Given the description of an element on the screen output the (x, y) to click on. 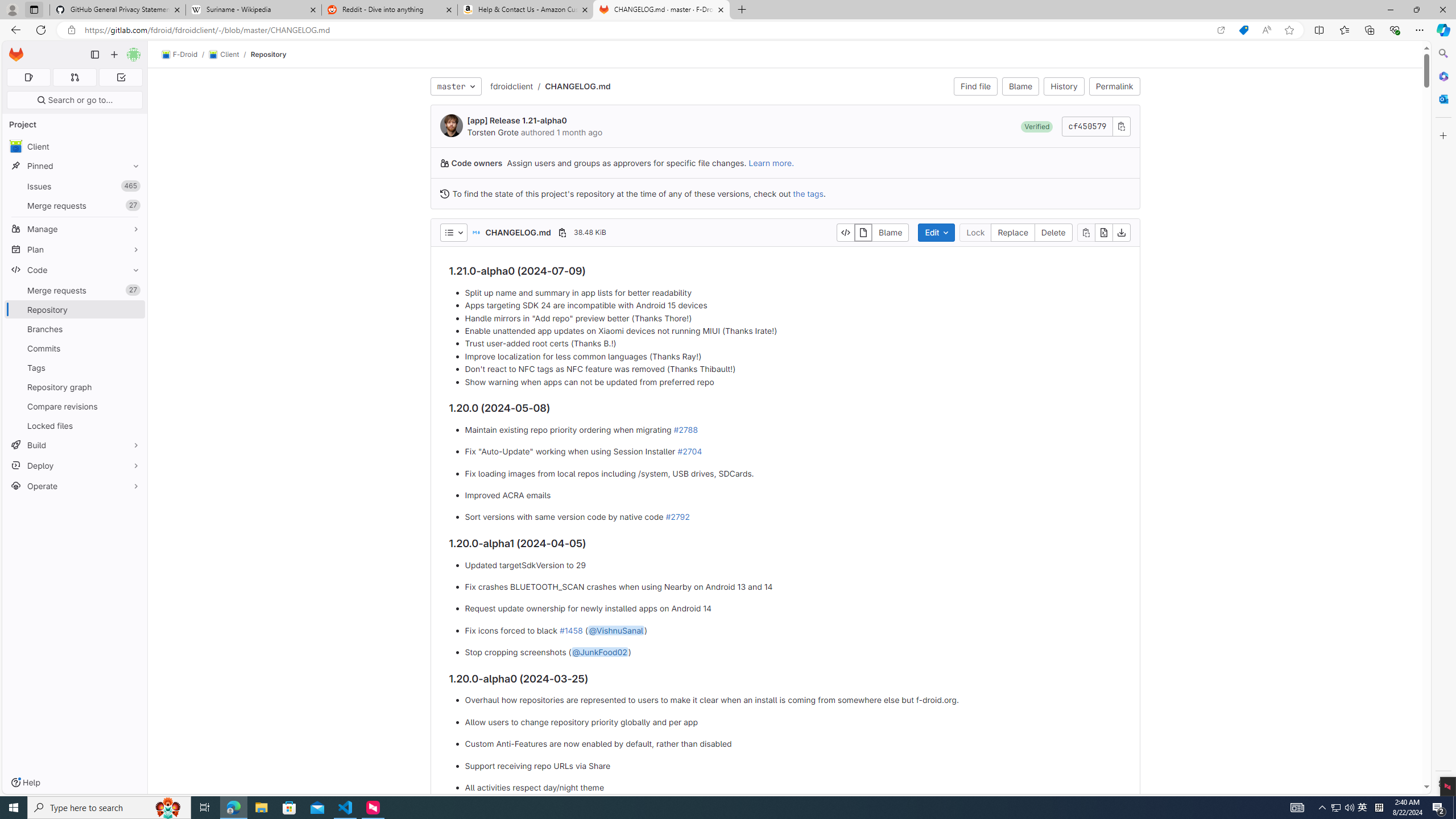
Open raw (1103, 232)
Merge requests 0 (74, 76)
To-Do list 0 (120, 76)
Primary navigation sidebar (94, 54)
Repository graph (74, 386)
Compare revisions (74, 406)
Repository (268, 53)
Improved ACRA emails (792, 495)
Issues 465 (74, 185)
Pin Repository graph (132, 386)
Stop cropping screenshots (@JunkFood02) (792, 652)
Torsten Grote's avatar (451, 125)
